Given the description of an element on the screen output the (x, y) to click on. 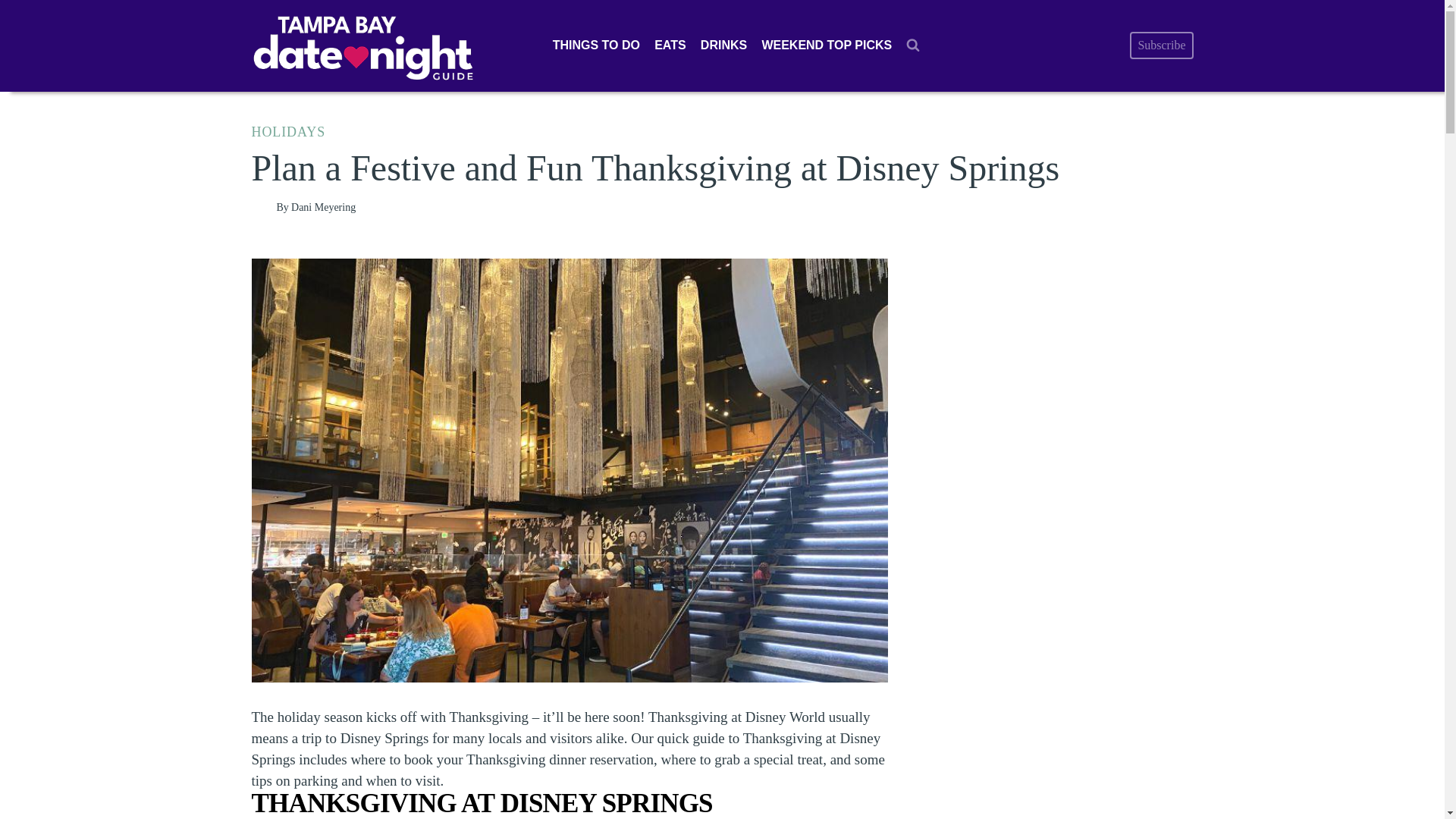
Subscribe (1160, 44)
HOLIDAYS (288, 131)
WEEKEND TOP PICKS (826, 45)
DRINKS (723, 45)
THINGS TO DO (595, 45)
EATS (670, 45)
Dani Meyering (323, 206)
